Given the description of an element on the screen output the (x, y) to click on. 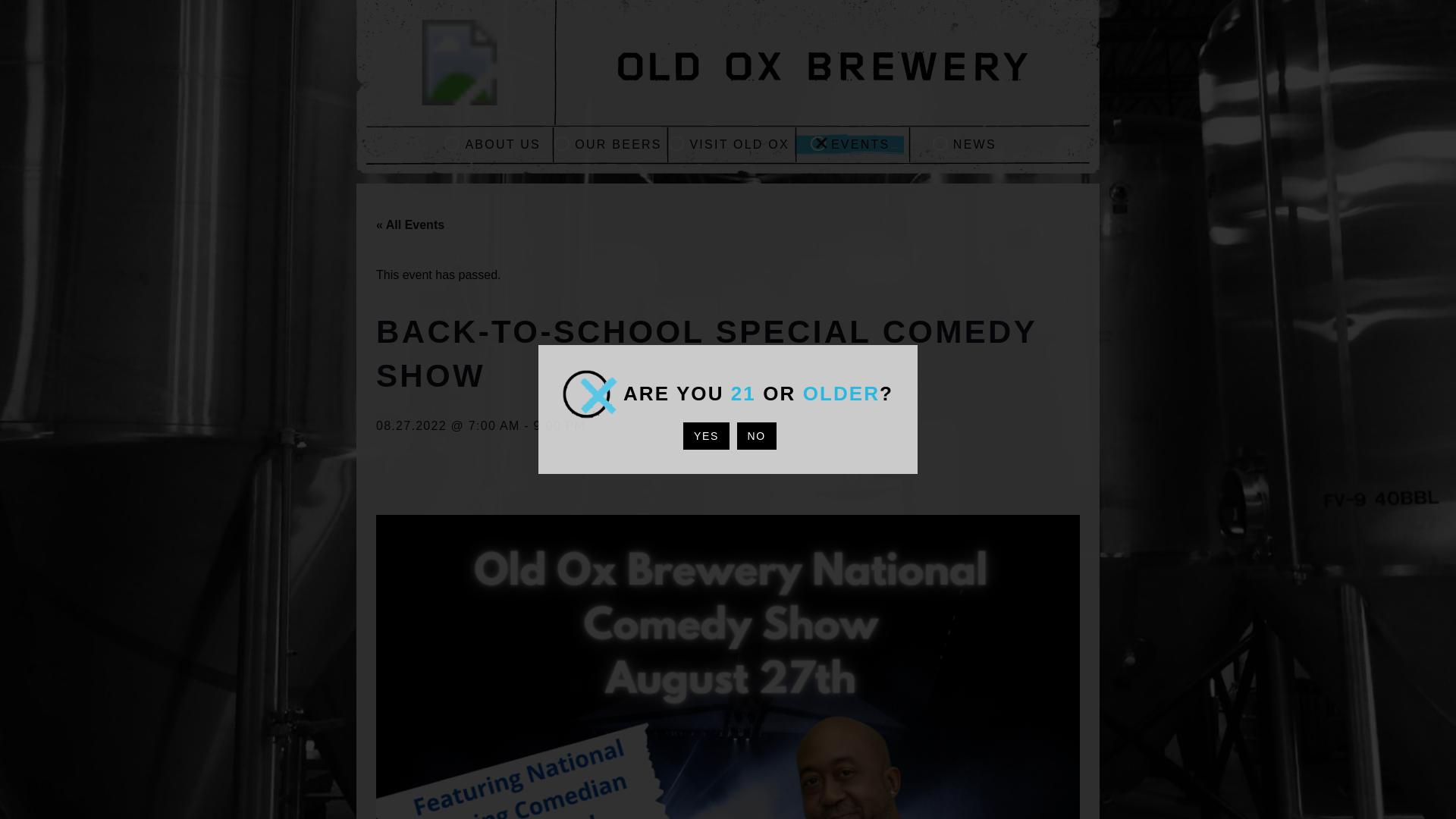
OUR BEERS (607, 144)
YES (705, 435)
EVENTS (849, 144)
ABOUT US (492, 144)
NEWS (964, 144)
NO (756, 435)
VISIT OLD OX (728, 144)
